Given the description of an element on the screen output the (x, y) to click on. 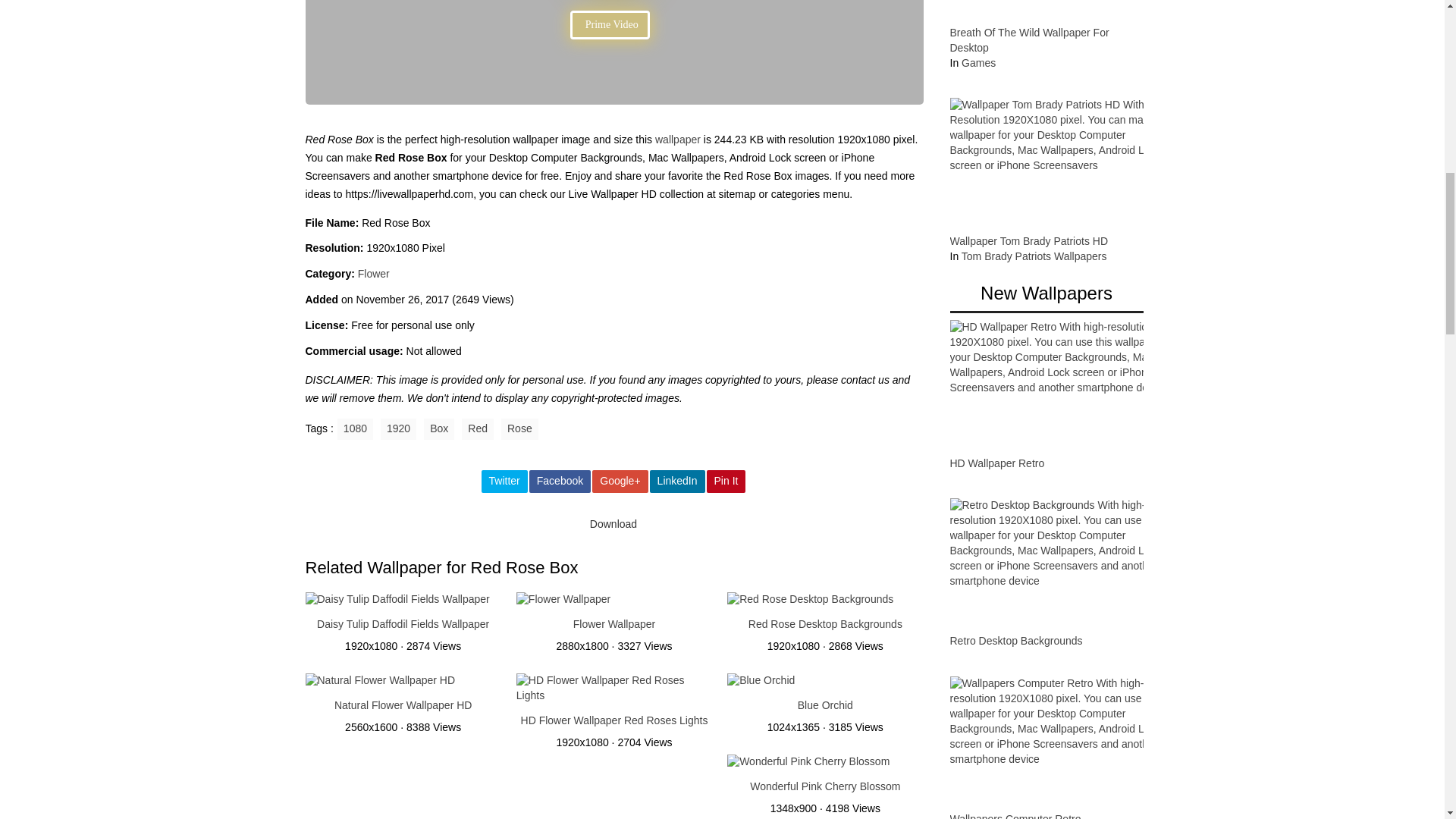
1080 (354, 428)
HD Flower Wallpaper Red Roses Lights (614, 720)
Daisy Tulip Daffodil Fields Wallpaper (396, 600)
Red (477, 428)
Wonderful Pink Cherry Blossom (807, 762)
HD Flower Wallpaper Red Roses Lights (614, 720)
Daisy Tulip Daffodil Fields Wallpaper (403, 623)
Download (613, 524)
Flower Wallpaper (563, 600)
Blue Orchid (760, 681)
